Given the description of an element on the screen output the (x, y) to click on. 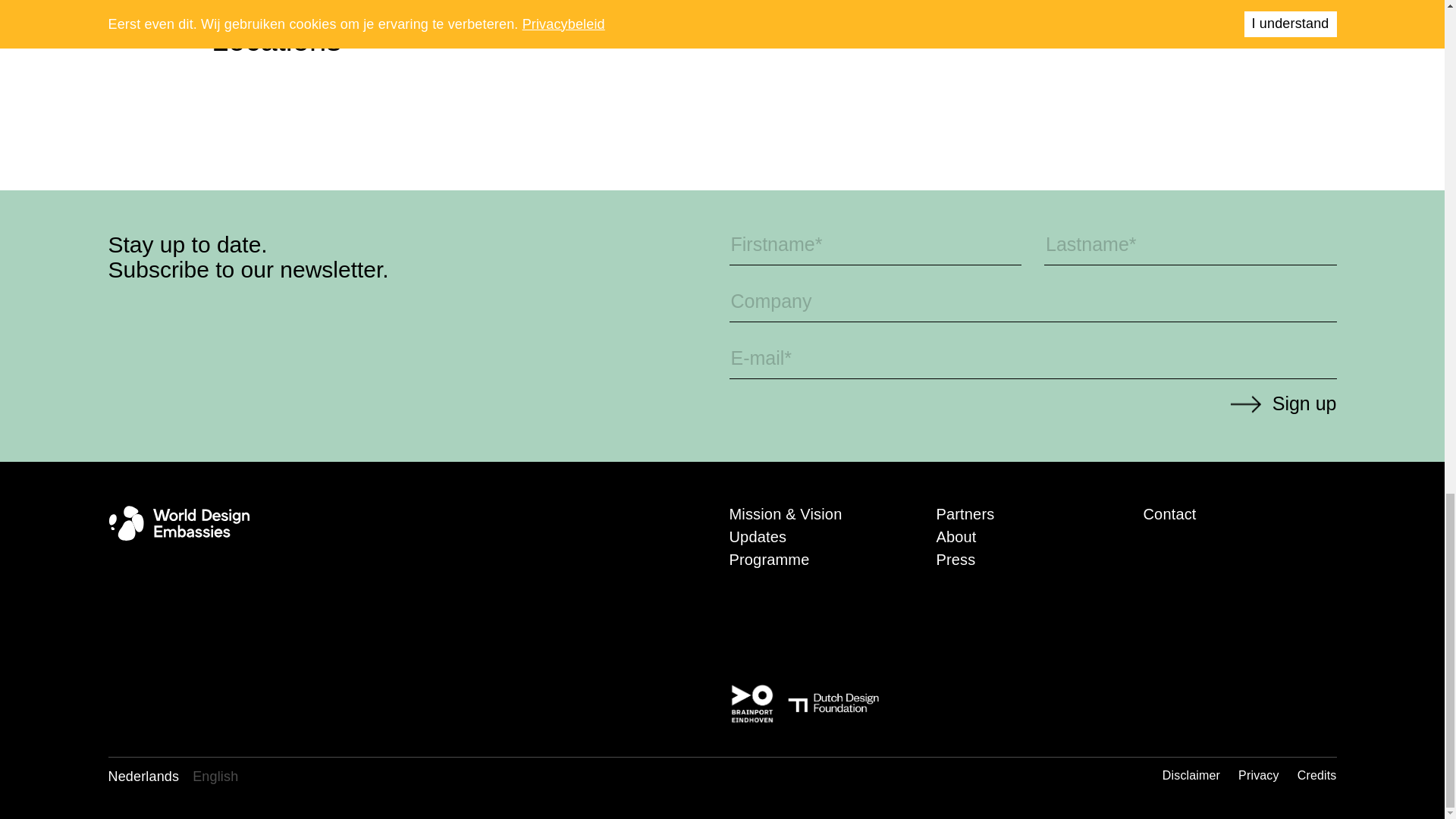
Nederlands (143, 776)
Contact (1169, 514)
About (955, 536)
Sign up (1282, 403)
Press (955, 559)
Updates (758, 536)
Programme (769, 559)
Partners (965, 514)
